Given the description of an element on the screen output the (x, y) to click on. 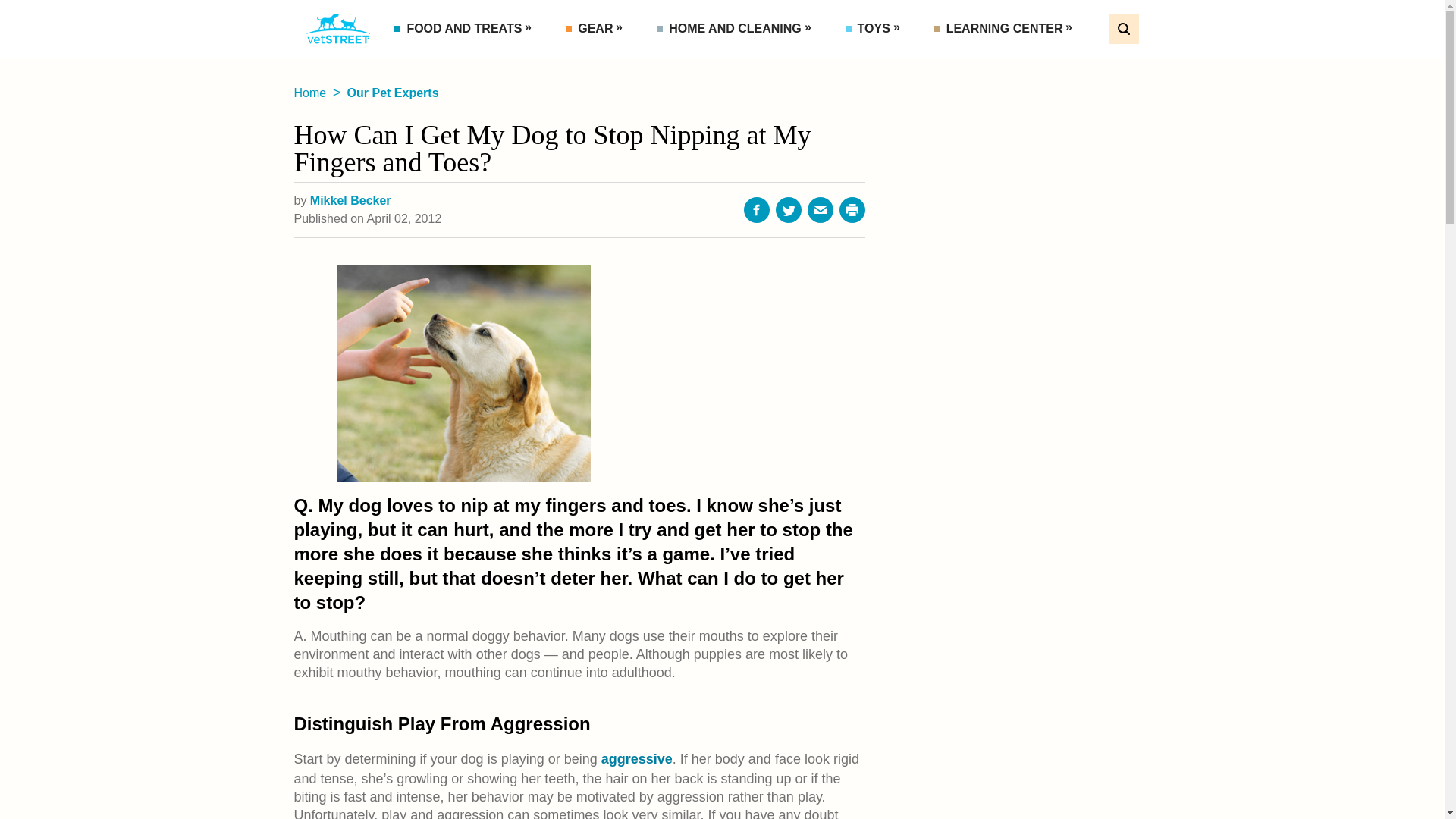
GEAR (596, 28)
FOOD AND TREATS (465, 28)
Cat Beds (719, 62)
TOYS (875, 28)
Share via email (820, 209)
Cat Toys (909, 62)
Cat Food (457, 62)
Print (852, 209)
Share on Facebook (757, 209)
HOME AND CLEANING (736, 28)
